Given the description of an element on the screen output the (x, y) to click on. 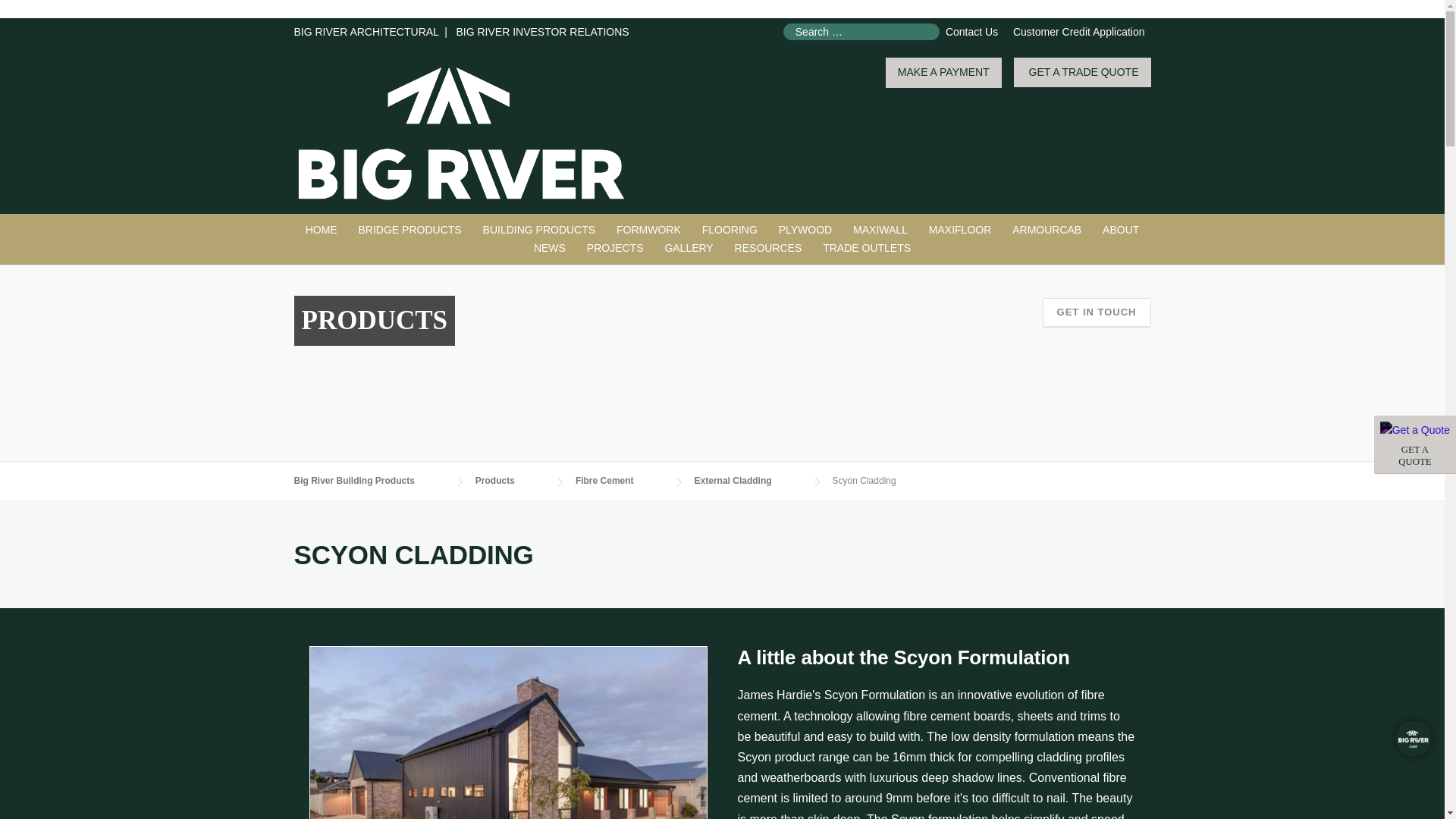
Products (539, 230)
Customer Credit Application (1078, 31)
Home (321, 230)
BUILDING PRODUCTS (539, 230)
GET A TRADE QUOTE (1082, 72)
Get a Trade Quote (1415, 444)
Go to Products. (510, 480)
MAKE A PAYMENT (943, 72)
About Us (1120, 230)
Big River Building Products (461, 132)
Search (40, 13)
Get a Quote (1415, 430)
Projects (615, 248)
Get in Touch (1096, 312)
BIG RIVER ARCHITECTURAL (366, 31)
